Given the description of an element on the screen output the (x, y) to click on. 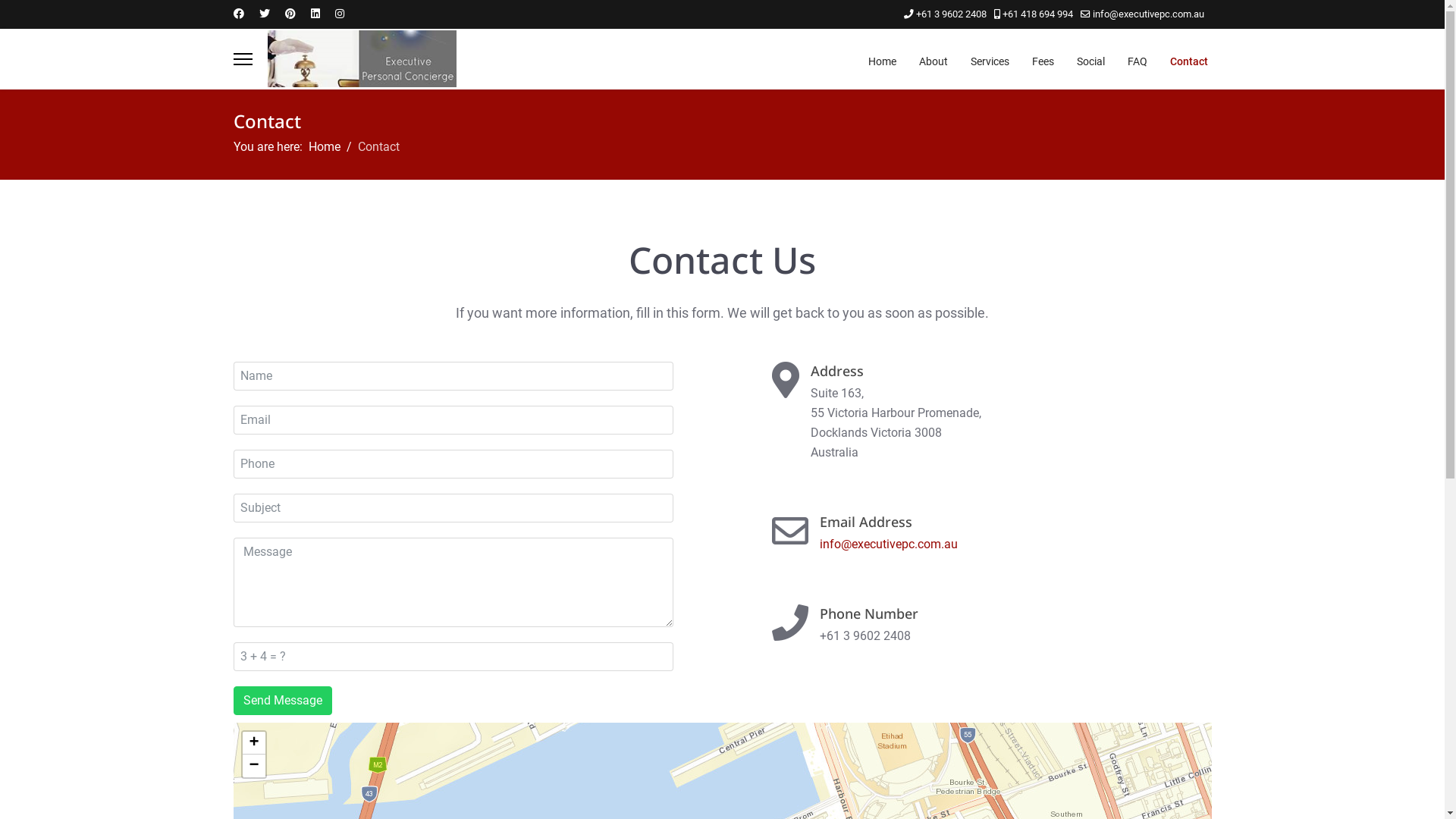
Contact Element type: text (1183, 61)
+61 418 694 994 Element type: text (1037, 13)
+ Element type: text (253, 742)
+61 3 9602 2408 Element type: text (951, 13)
Send Message Element type: text (282, 700)
Home Element type: text (881, 61)
About Element type: text (932, 61)
Services Element type: text (988, 61)
Fees Element type: text (1042, 61)
Home Element type: text (323, 146)
Menu Element type: hover (242, 58)
info@executivepc.com.au Element type: text (1147, 13)
FAQ Element type: text (1137, 61)
info@executivepc.com.au Element type: text (888, 543)
Social Element type: text (1089, 61)
